Given the description of an element on the screen output the (x, y) to click on. 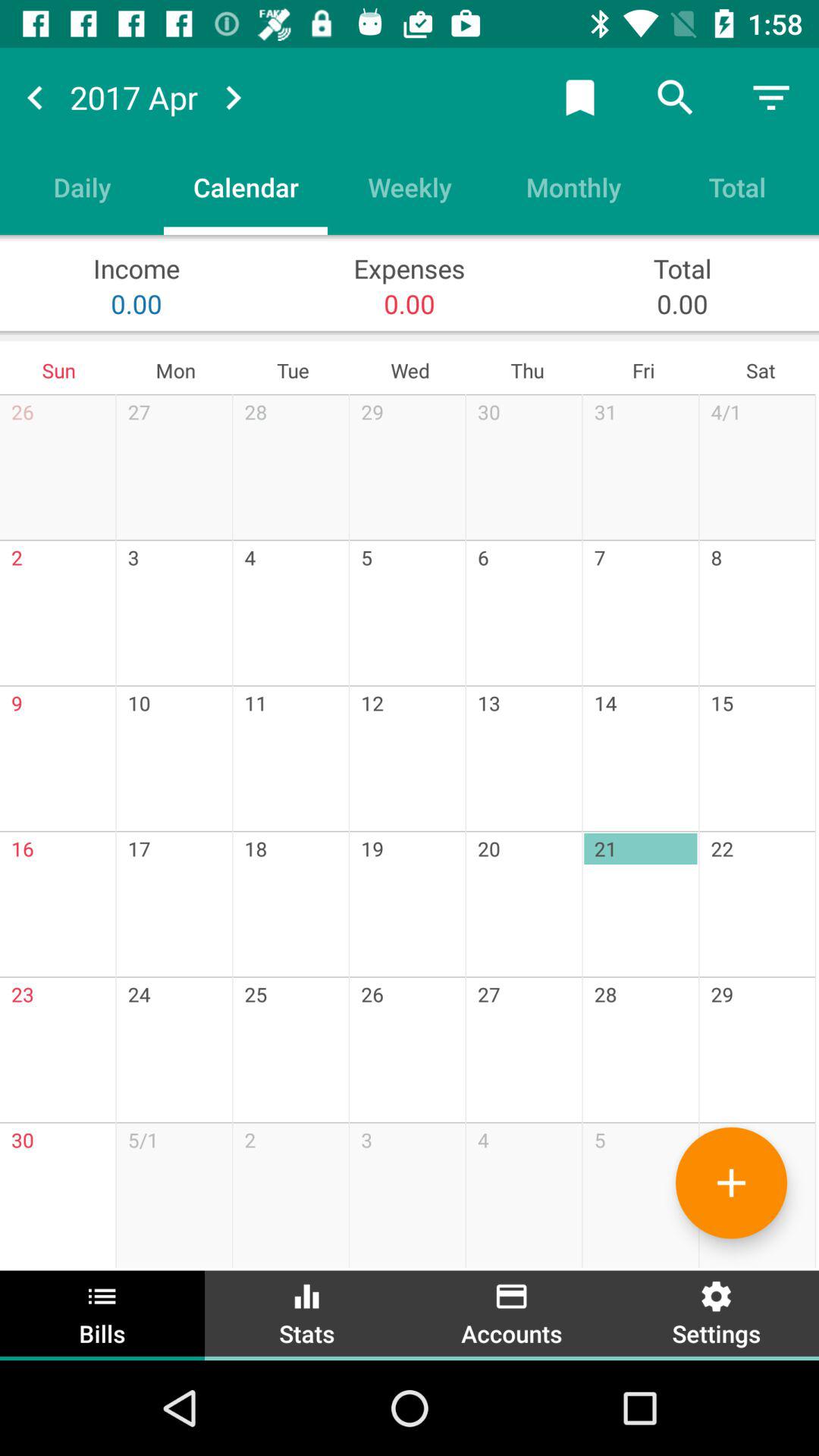
turn off icon next to the monthly icon (409, 186)
